Given the description of an element on the screen output the (x, y) to click on. 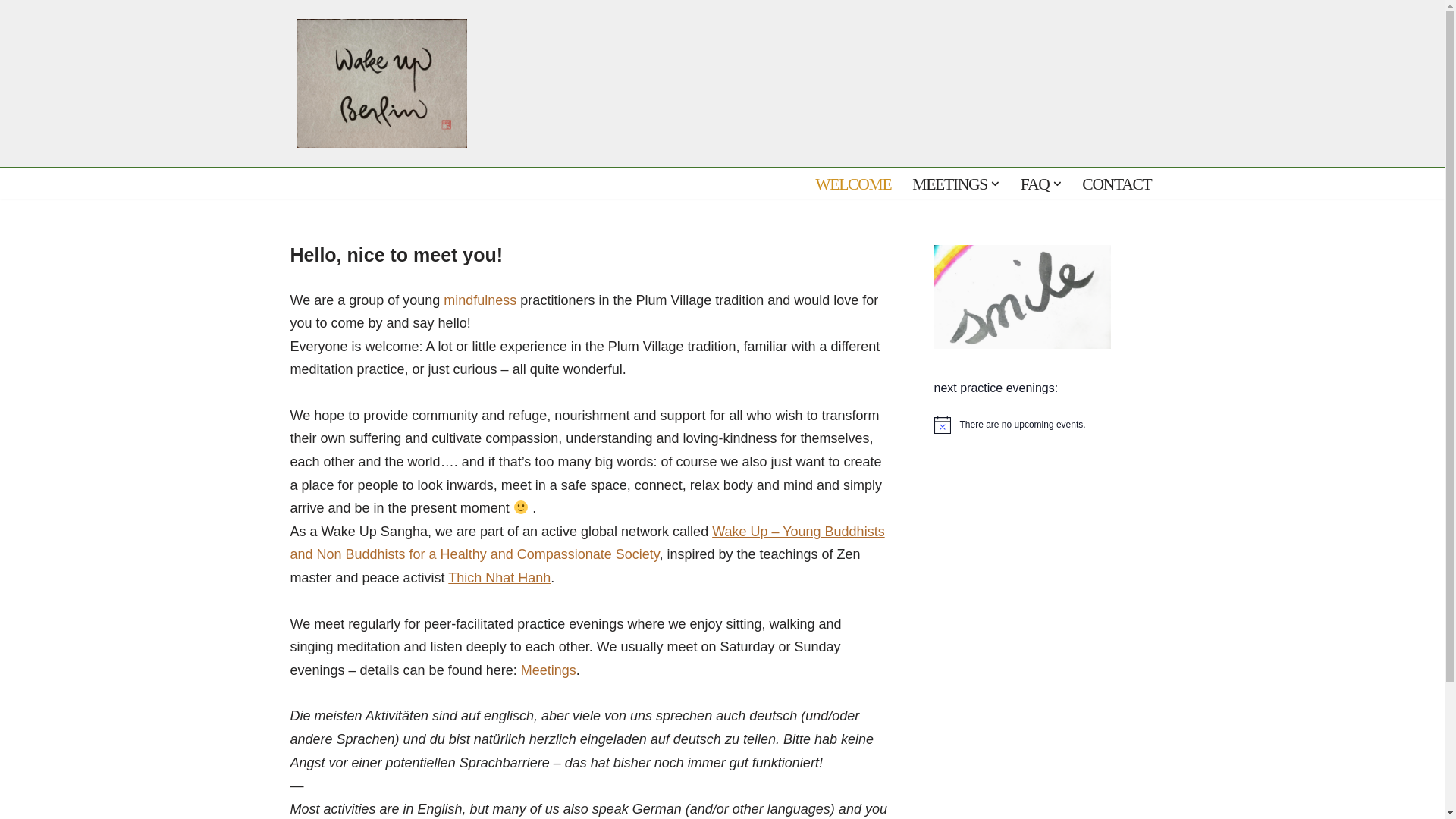
CONTACT (1116, 183)
FAQ (1034, 183)
Thich Nhat Hanh (499, 577)
Skip to content (11, 31)
mindfulness (480, 299)
MEETINGS (949, 183)
WELCOME (853, 183)
Meetings (548, 670)
